Given the description of an element on the screen output the (x, y) to click on. 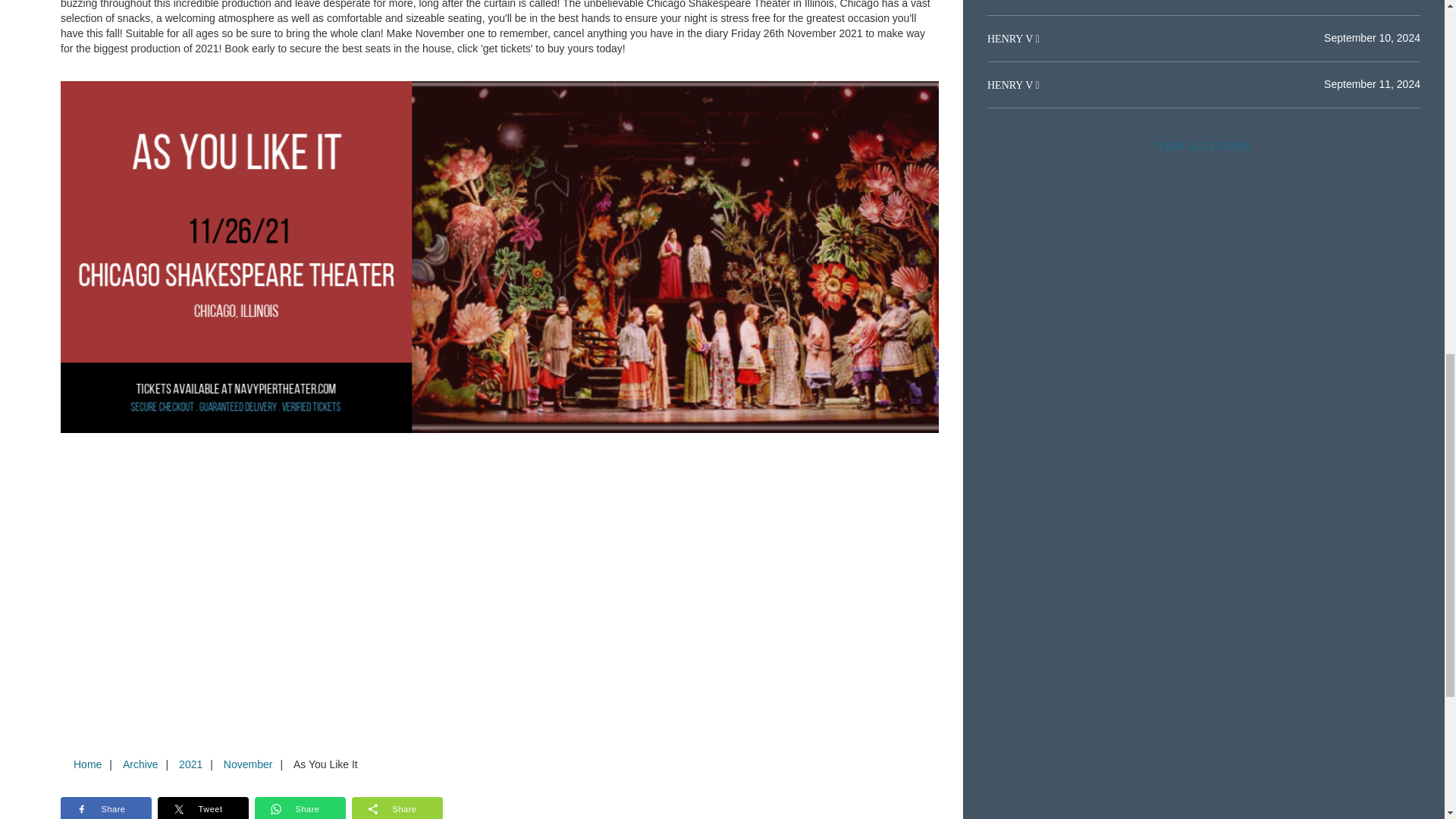
November (248, 764)
VIEW ALL EVENTS (1203, 146)
2021 (190, 764)
Archive (140, 764)
Home (87, 764)
